Given the description of an element on the screen output the (x, y) to click on. 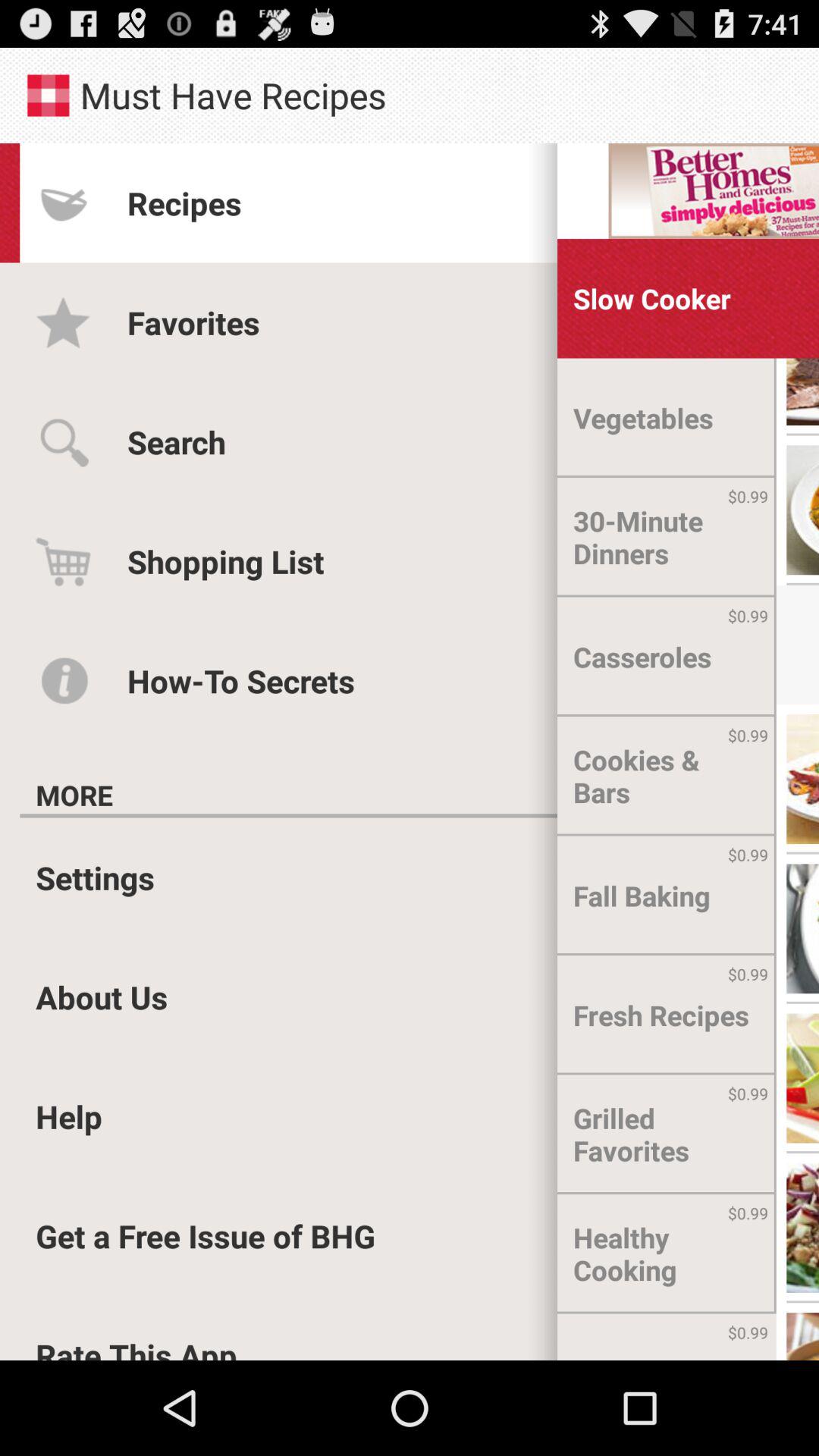
swipe to the search item (176, 441)
